Given the description of an element on the screen output the (x, y) to click on. 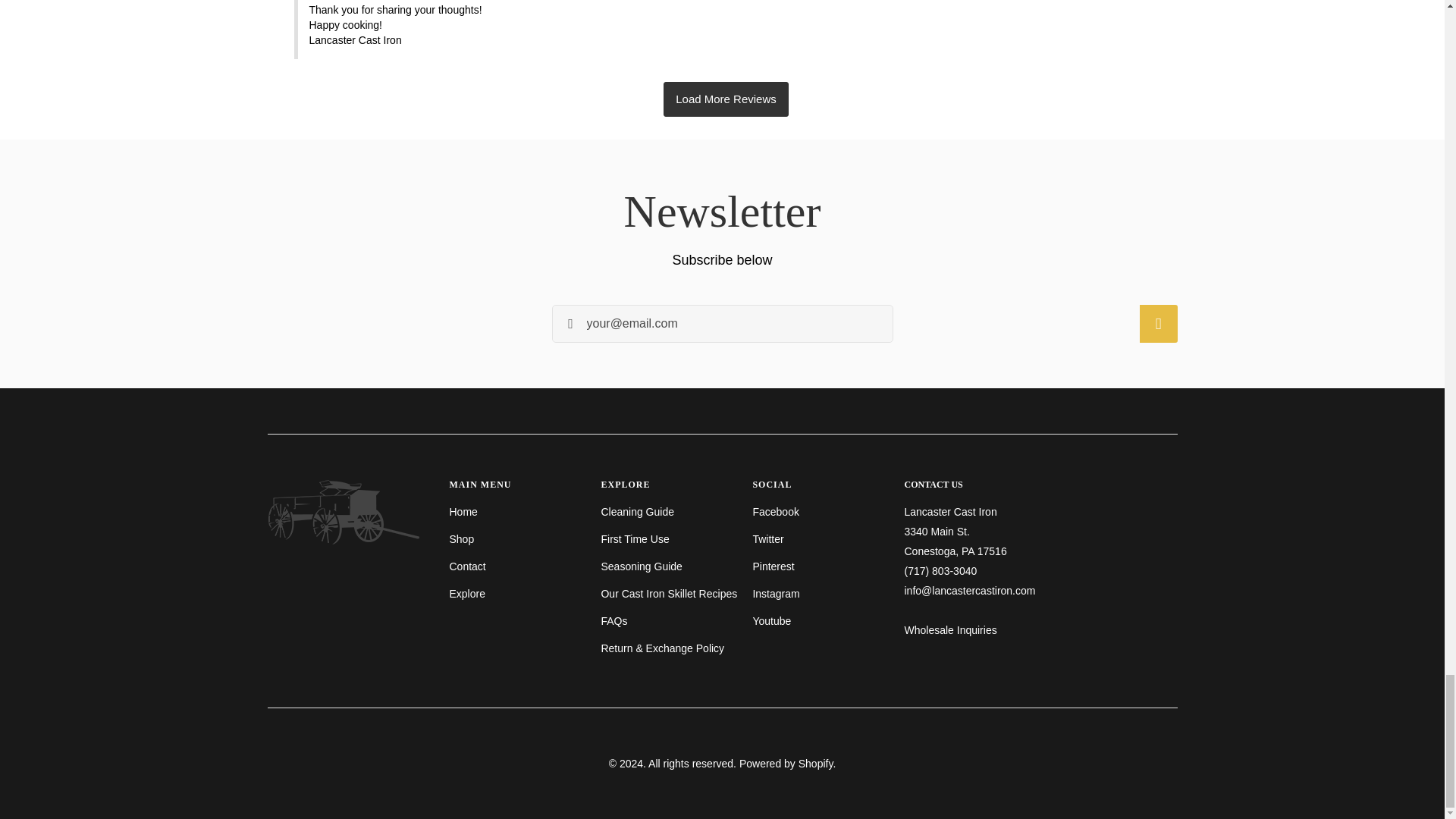
Subscribe (1157, 323)
